Given the description of an element on the screen output the (x, y) to click on. 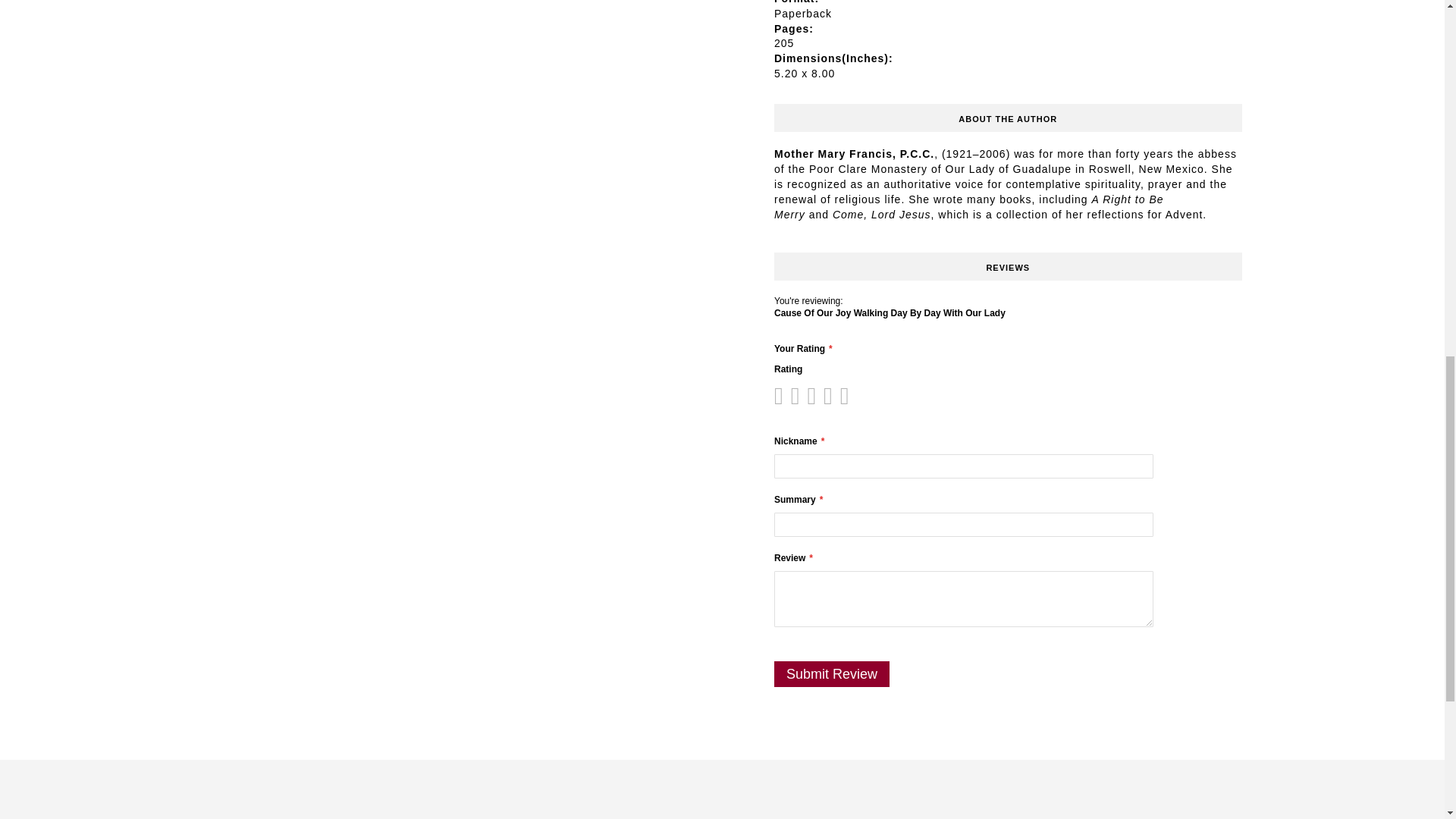
4 stars (807, 395)
3 stars (799, 395)
5 stars (815, 395)
2 stars (790, 395)
